Given the description of an element on the screen output the (x, y) to click on. 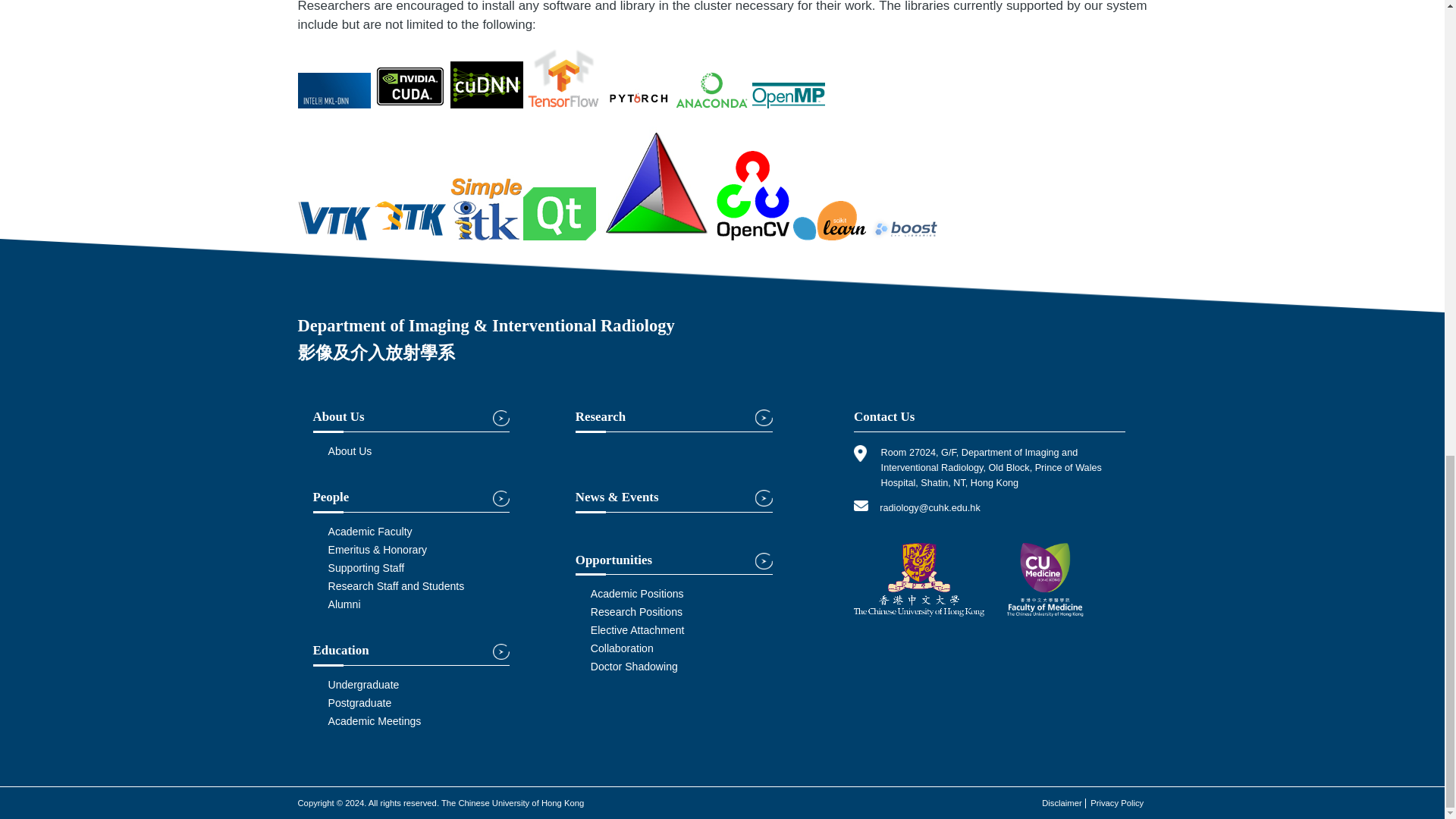
Academic Faculty (369, 531)
Research Staff and Students (395, 585)
About Us (349, 451)
People (411, 500)
Alumni (343, 604)
Supporting Staff (365, 567)
About Us (411, 420)
Research (674, 420)
